Given the description of an element on the screen output the (x, y) to click on. 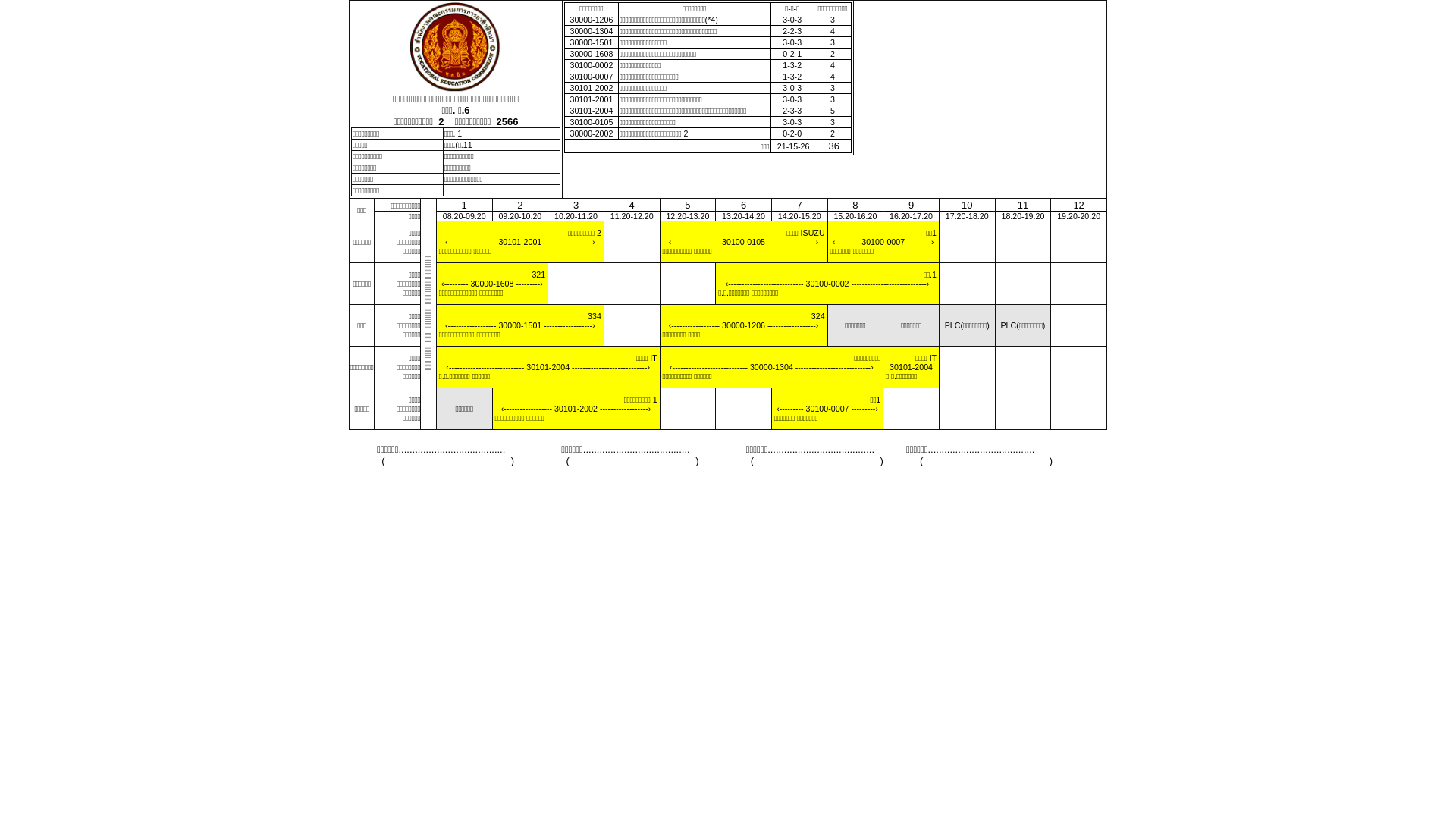
4 Element type: text (832, 30)
30100-0105 Element type: text (743, 241)
3 Element type: text (832, 87)
30000-1608 Element type: text (492, 283)
30000-1206 Element type: text (743, 324)
2-2-3 Element type: text (791, 30)
3-0-3 Element type: text (791, 87)
3-0-3 Element type: text (791, 42)
30000-1304 Element type: text (590, 30)
0-2-1 Element type: text (791, 53)
30100-0007 Element type: text (882, 241)
30100-0105 Element type: text (590, 121)
4 Element type: text (832, 76)
4 Element type: text (832, 64)
30000-1304 Element type: text (771, 366)
30100-0007 Element type: text (590, 76)
30100-0002 Element type: text (590, 64)
3 Element type: text (832, 19)
3 Element type: text (832, 121)
3-0-3 Element type: text (791, 19)
30000-2002 Element type: text (590, 133)
30101-2004 Element type: text (910, 366)
3 Element type: text (832, 42)
1-3-2 Element type: text (791, 76)
3-0-3 Element type: text (791, 121)
30000-1501 Element type: text (519, 324)
30100-0002 Element type: text (827, 283)
2-3-3 Element type: text (791, 110)
0-2-0 Element type: text (791, 133)
334 Element type: text (594, 315)
30101-2001 Element type: text (590, 98)
30000-1608 Element type: text (590, 53)
30100-0007 Element type: text (827, 408)
3-0-3 Element type: text (791, 98)
30101-2002 Element type: text (575, 408)
30101-2004 Element type: text (590, 110)
30101-2001 Element type: text (519, 241)
321 Element type: text (538, 274)
30101-2002 Element type: text (590, 87)
2 Element type: text (832, 133)
3 Element type: text (832, 98)
30000-1501 Element type: text (590, 42)
324 Element type: text (818, 315)
2 Element type: text (832, 53)
5 Element type: text (832, 110)
30101-2004 Element type: text (547, 366)
1-3-2 Element type: text (791, 64)
30000-1206 Element type: text (590, 19)
